Given the description of an element on the screen output the (x, y) to click on. 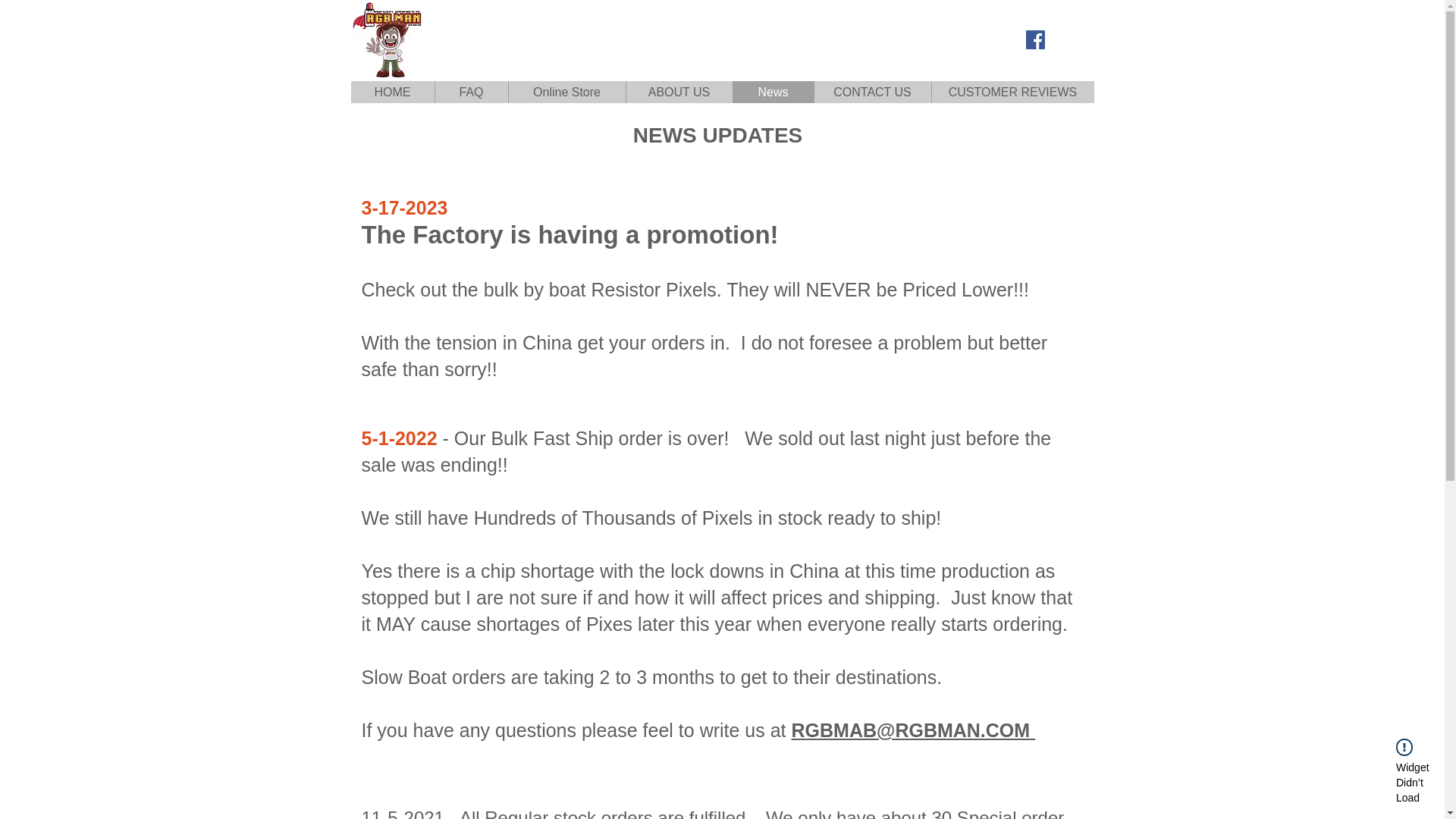
CUSTOMER REVIEWS (1012, 92)
FAQ (469, 92)
CONTACT US (871, 92)
ABOUT US (678, 92)
HOME (391, 92)
News (772, 92)
Online Store (567, 92)
